Given the description of an element on the screen output the (x, y) to click on. 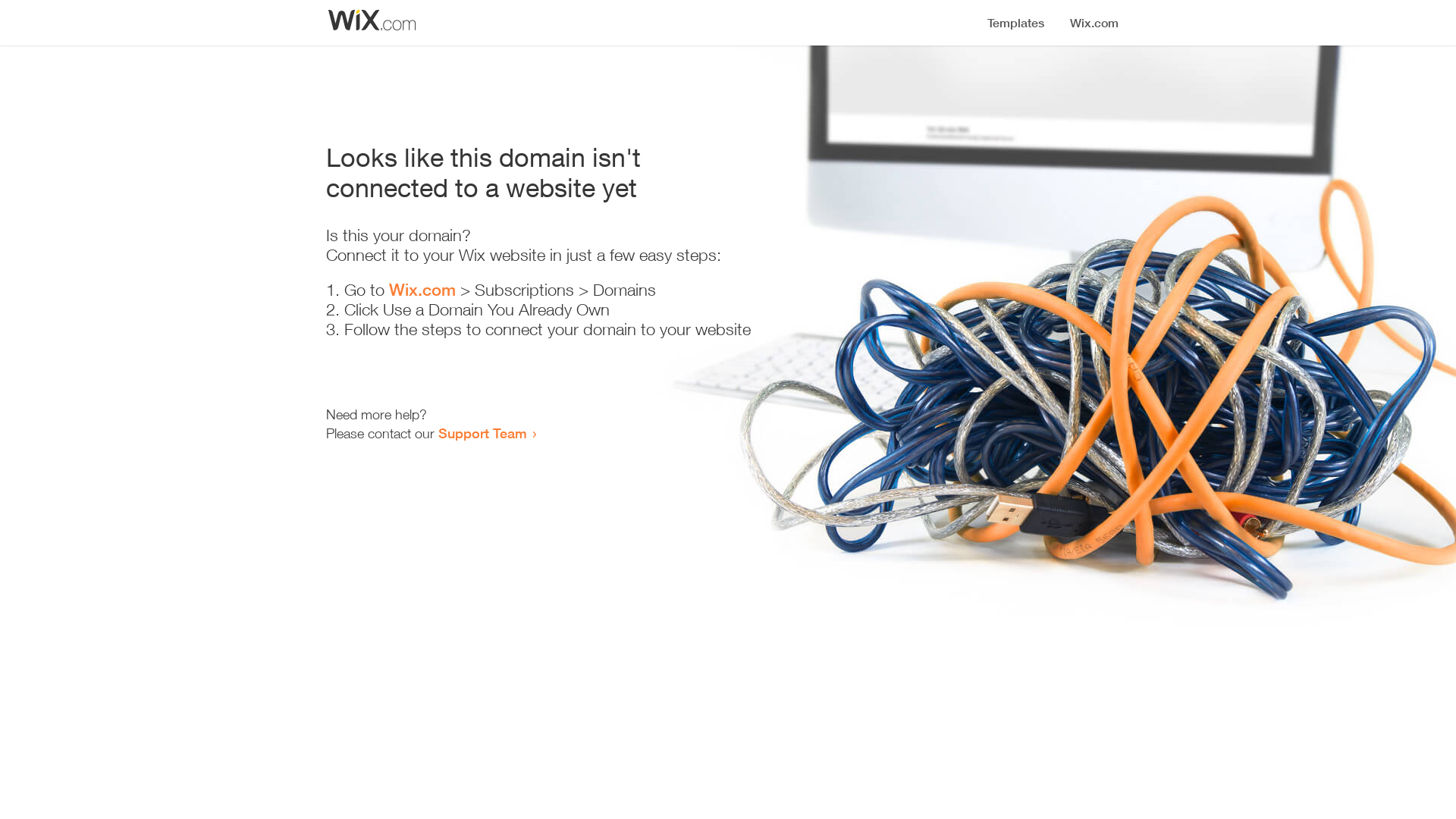
Support Team Element type: text (482, 432)
Wix.com Element type: text (422, 289)
